Given the description of an element on the screen output the (x, y) to click on. 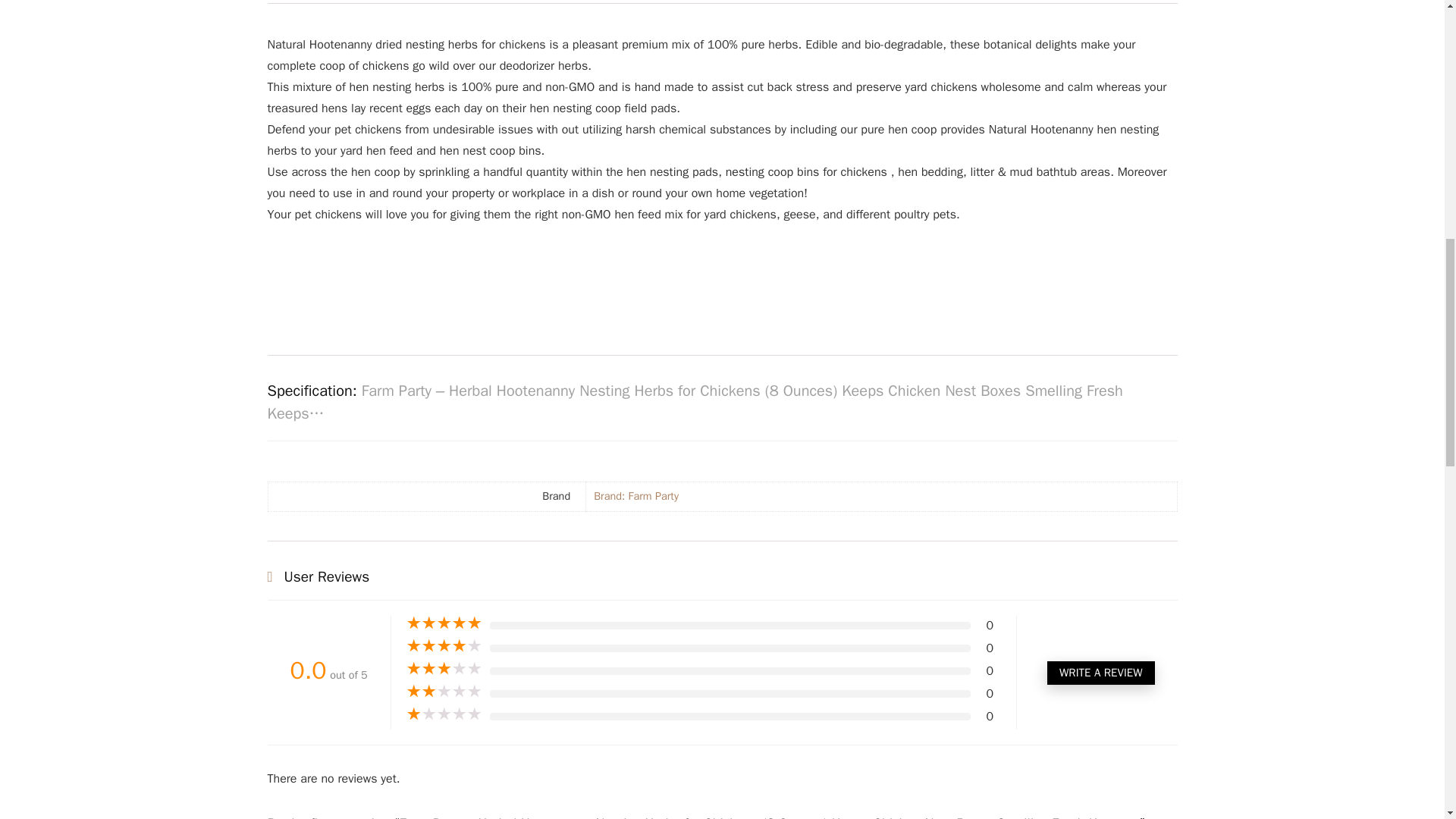
Rated 3 out of 5 (443, 668)
Rated 5 out of 5 (443, 622)
Rated 1 out of 5 (443, 713)
Rated 4 out of 5 (443, 645)
Rated 2 out of 5 (443, 691)
WRITE A REVIEW (1100, 672)
